Given the description of an element on the screen output the (x, y) to click on. 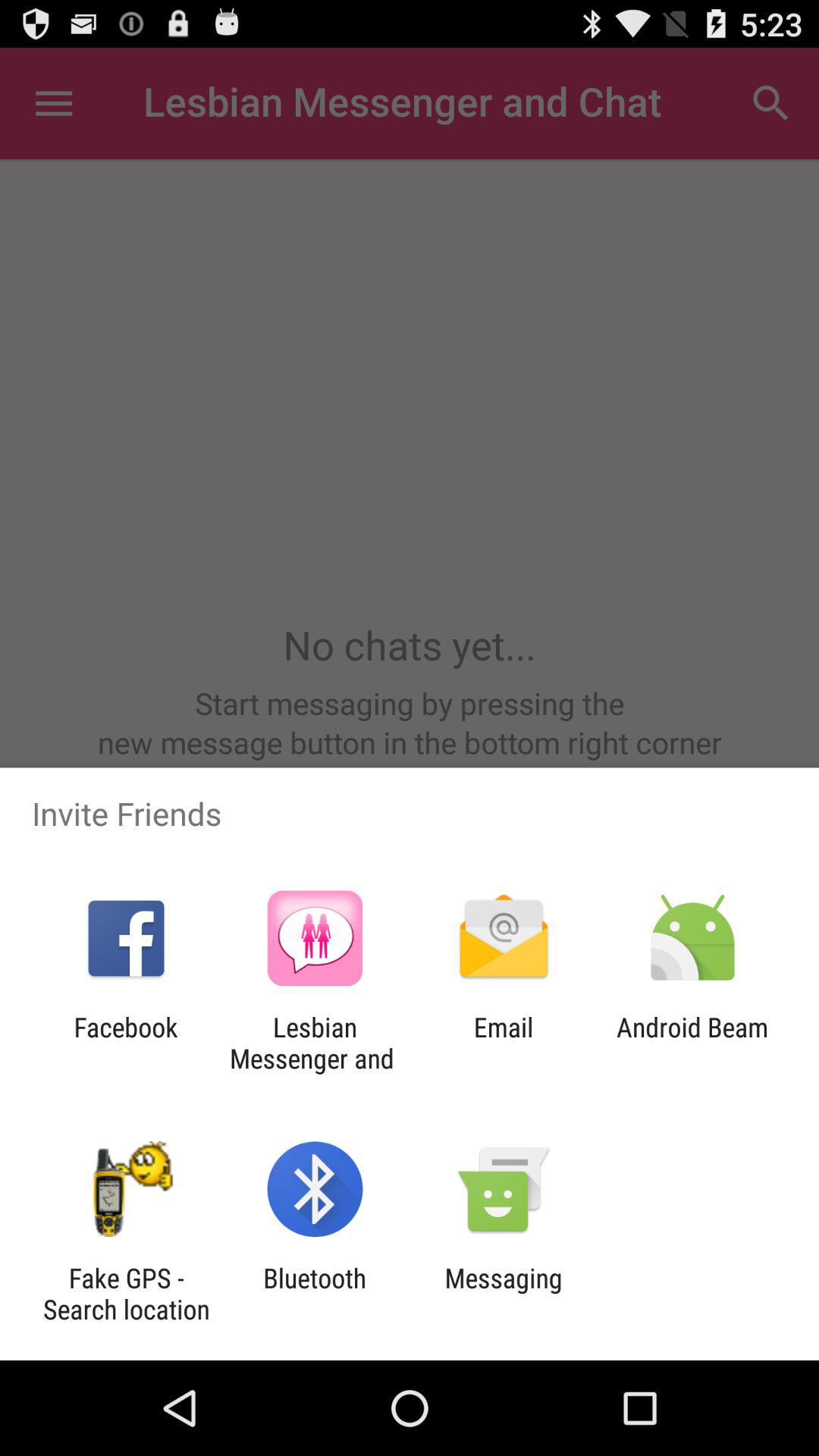
choose icon to the right of lesbian messenger and (503, 1042)
